Given the description of an element on the screen output the (x, y) to click on. 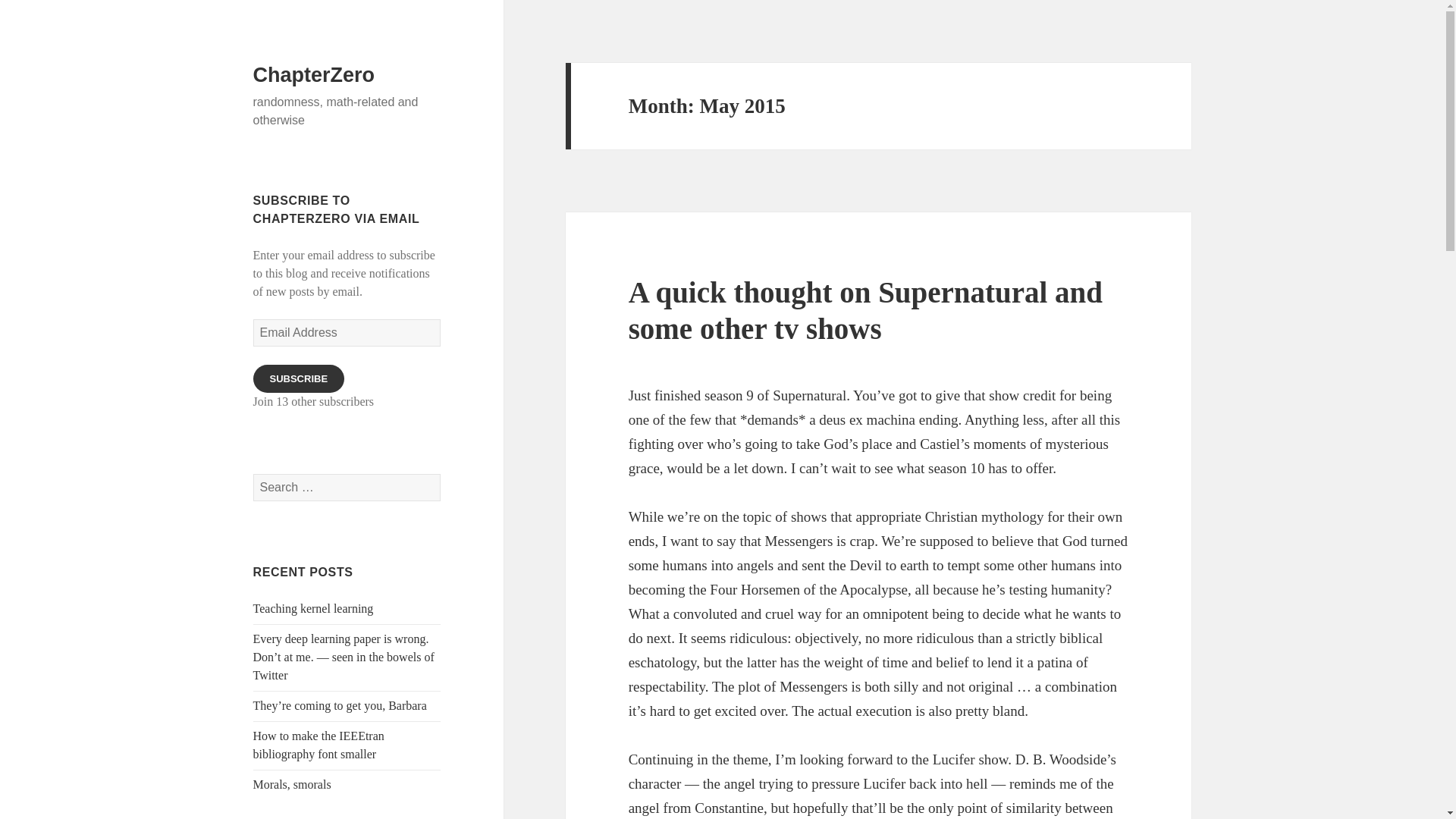
SUBSCRIBE (299, 378)
Teaching kernel learning (313, 608)
ChapterZero (314, 74)
Morals, smorals (292, 784)
How to make the IEEEtran bibliography font smaller (318, 744)
